Given the description of an element on the screen output the (x, y) to click on. 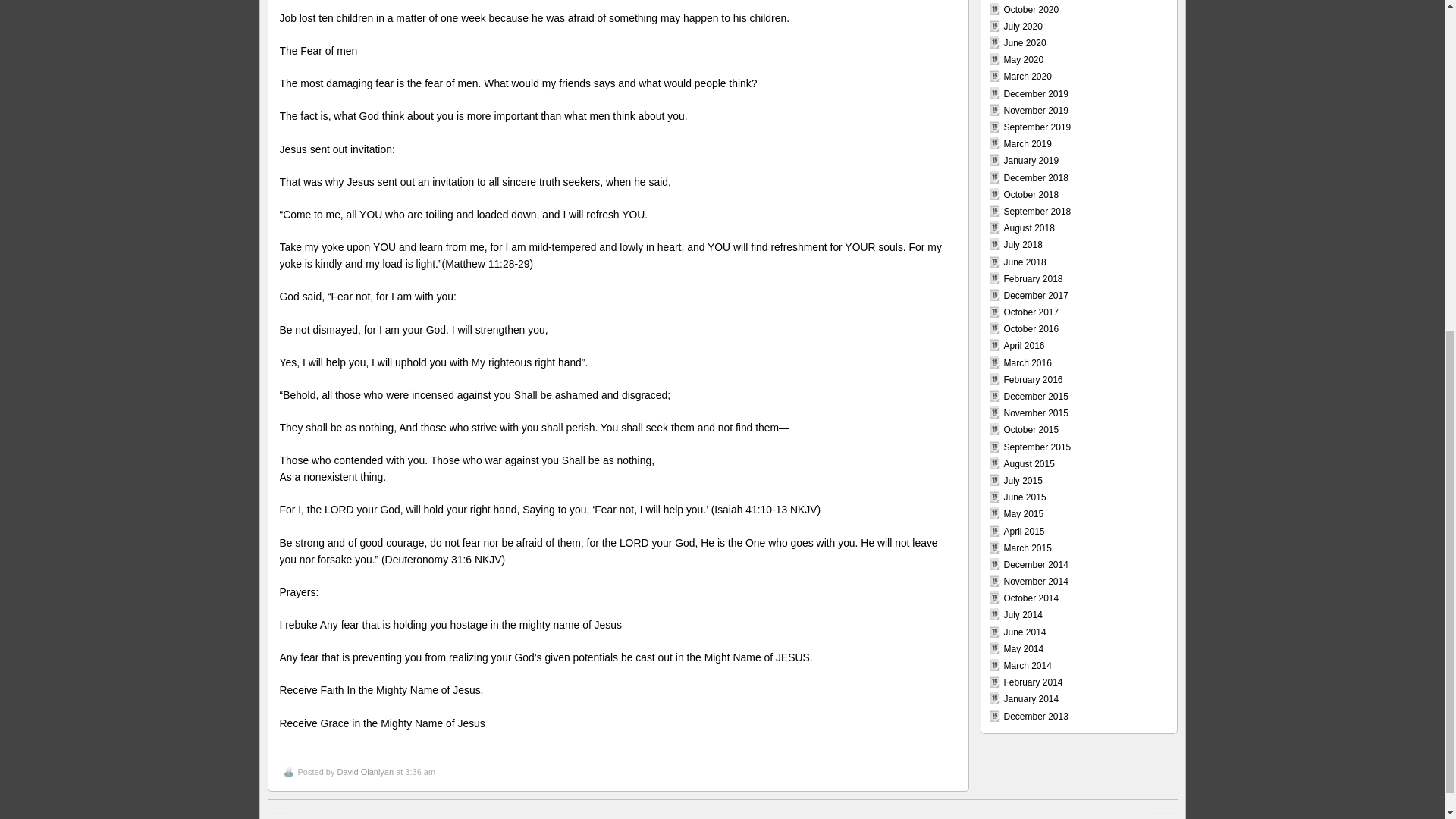
October 2020 (1031, 9)
September 2019 (1037, 127)
December 2019 (1036, 93)
November 2019 (1036, 110)
March 2020 (1027, 76)
March 2019 (1027, 143)
May 2020 (1023, 59)
David Olaniyan (364, 771)
July 2020 (1023, 26)
January 2019 (1031, 160)
June 2020 (1025, 42)
